Given the description of an element on the screen output the (x, y) to click on. 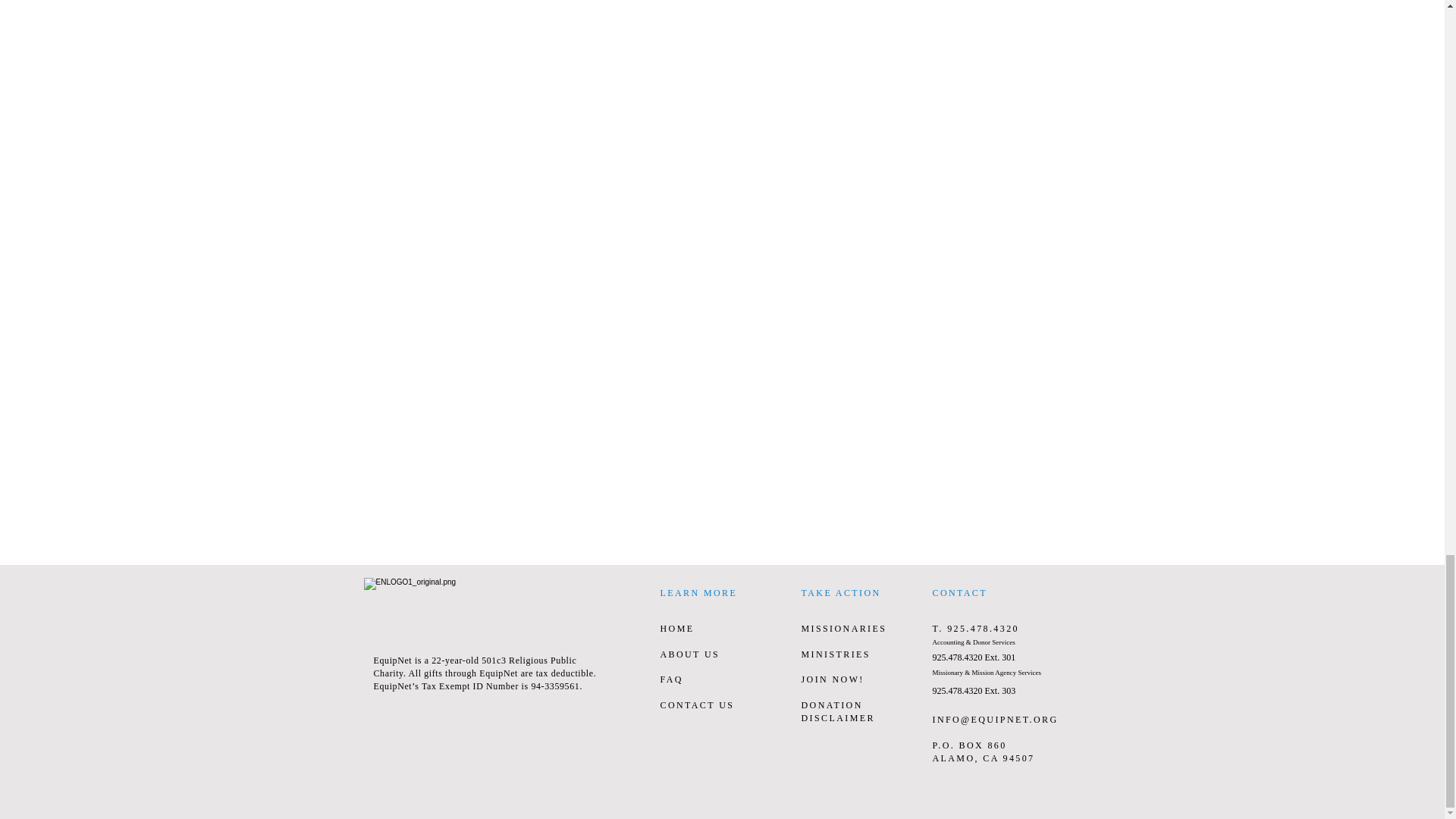
DISCLAIMER (837, 717)
FAQ (670, 679)
HOME (676, 628)
MISSIONARIES (843, 628)
DONATION (830, 705)
MINISTRIES (834, 654)
CONTACT US (696, 705)
ABOUT US (689, 654)
JOIN NOW! (831, 679)
